Given the description of an element on the screen output the (x, y) to click on. 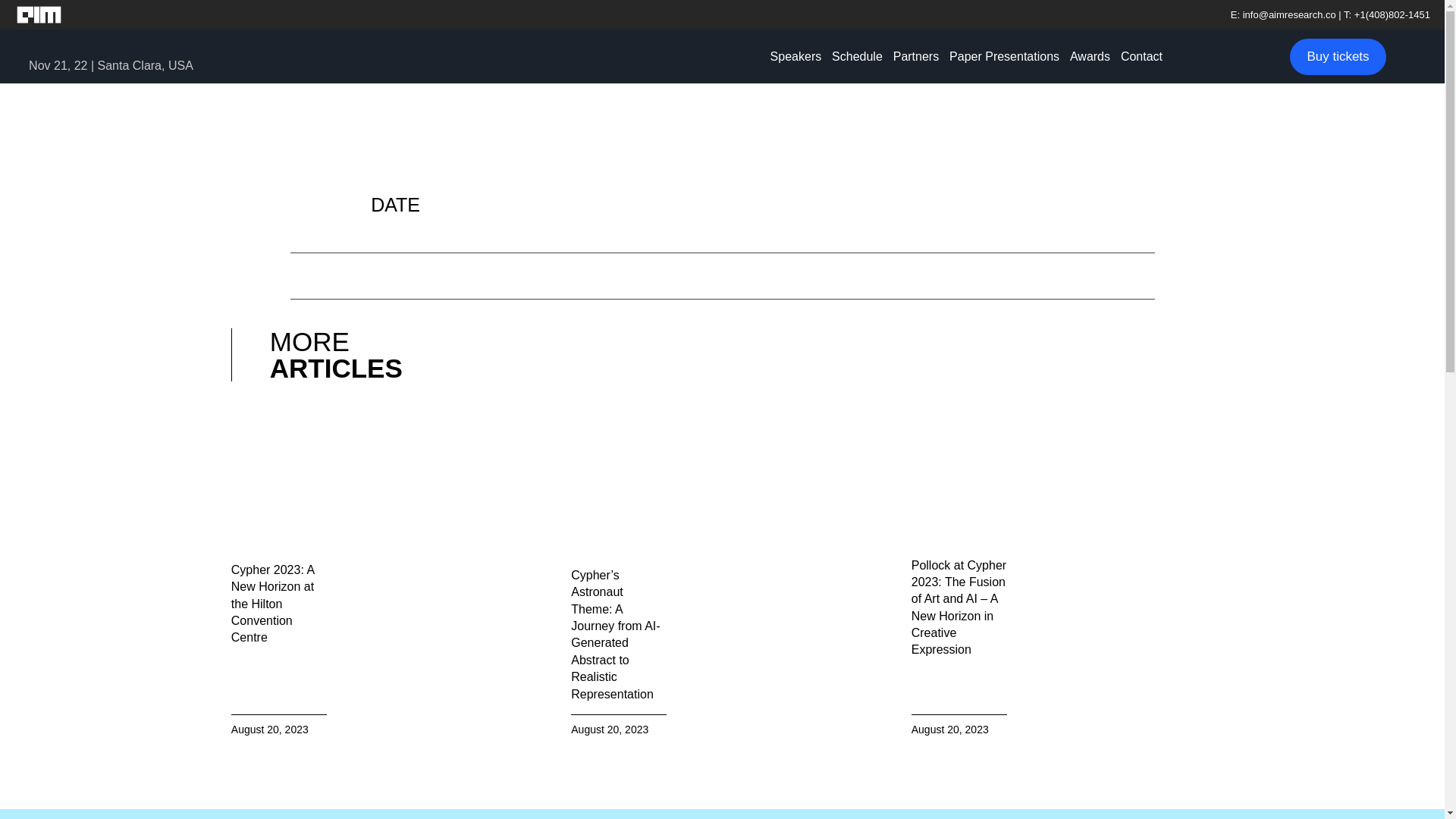
Contact (1141, 55)
Buy tickets (1338, 56)
Partners (915, 55)
Awards (1089, 55)
Speakers (796, 55)
Cypher 2023: A New Horizon at the Hilton Convention Centre (272, 603)
Schedule (857, 55)
Paper Presentations (1003, 55)
